Given the description of an element on the screen output the (x, y) to click on. 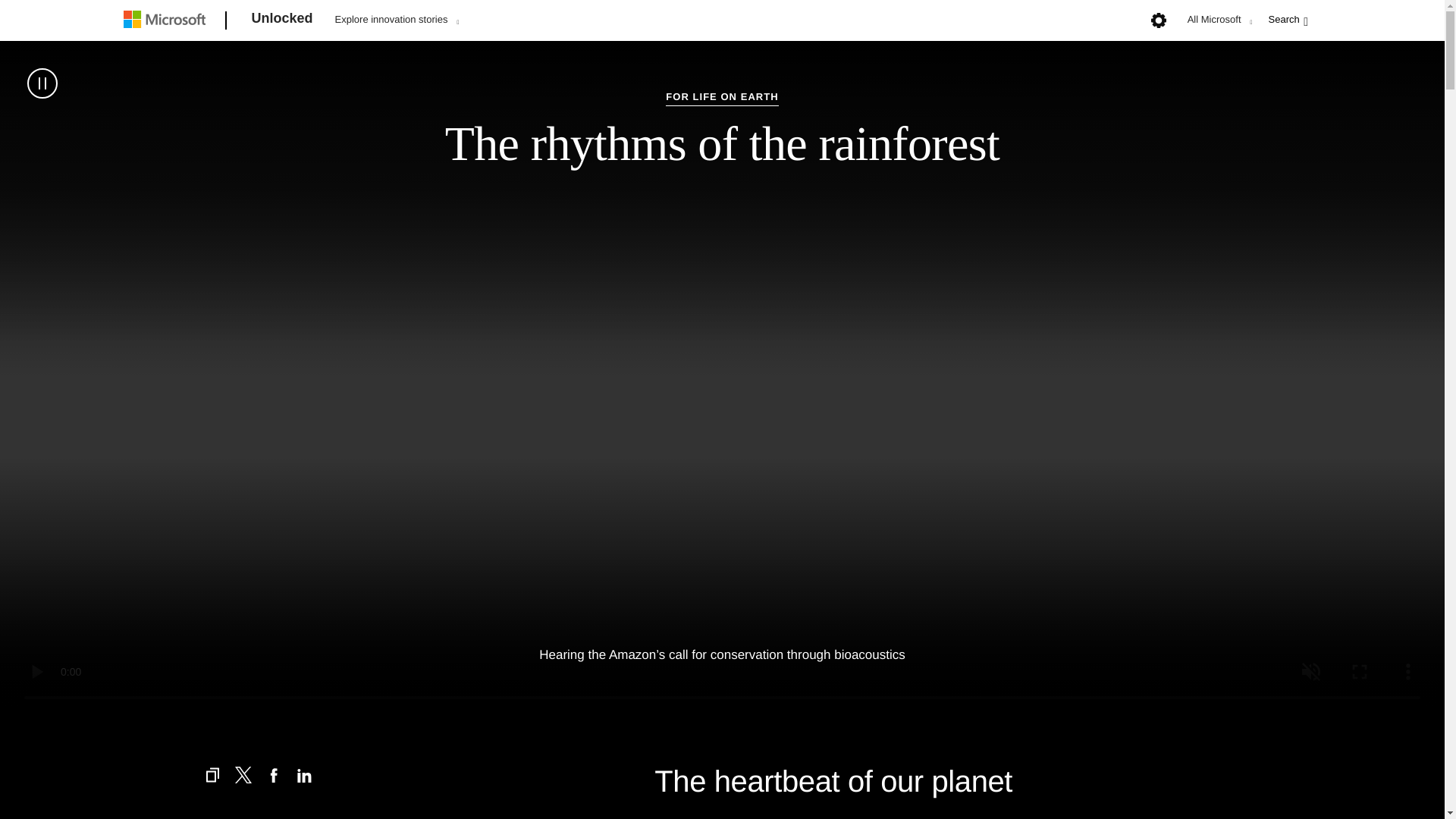
Explore innovation stories (396, 18)
Microsoft (167, 20)
Unlocked (282, 20)
All Microsoft (1217, 18)
